Given the description of an element on the screen output the (x, y) to click on. 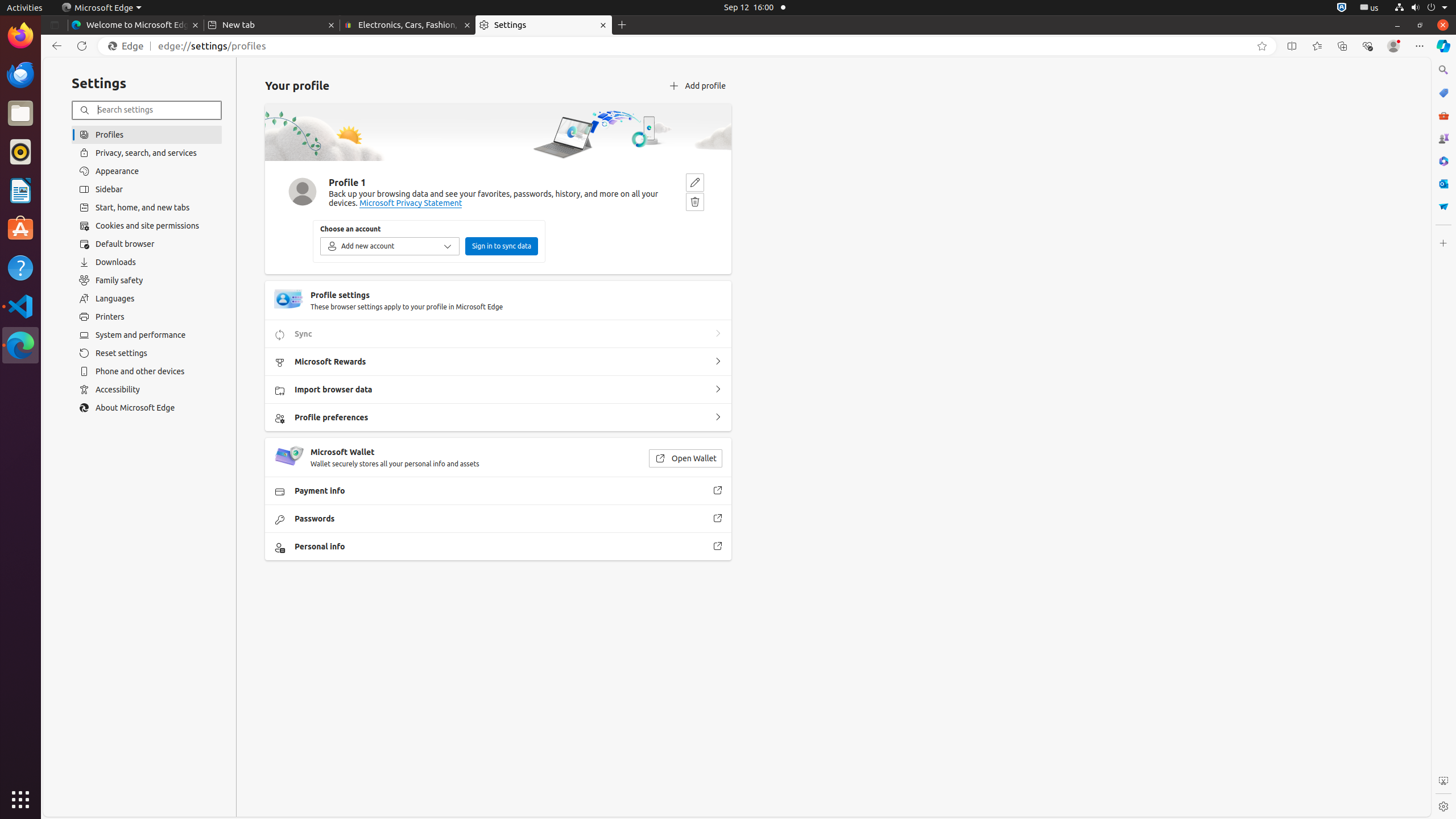
Tools Element type: push-button (1443, 115)
Edge Element type: push-button (128, 46)
Files Element type: push-button (20, 113)
Settings and more (Alt+F) Element type: push-button (1419, 45)
Import browser data Element type: push-button (717, 389)
